Given the description of an element on the screen output the (x, y) to click on. 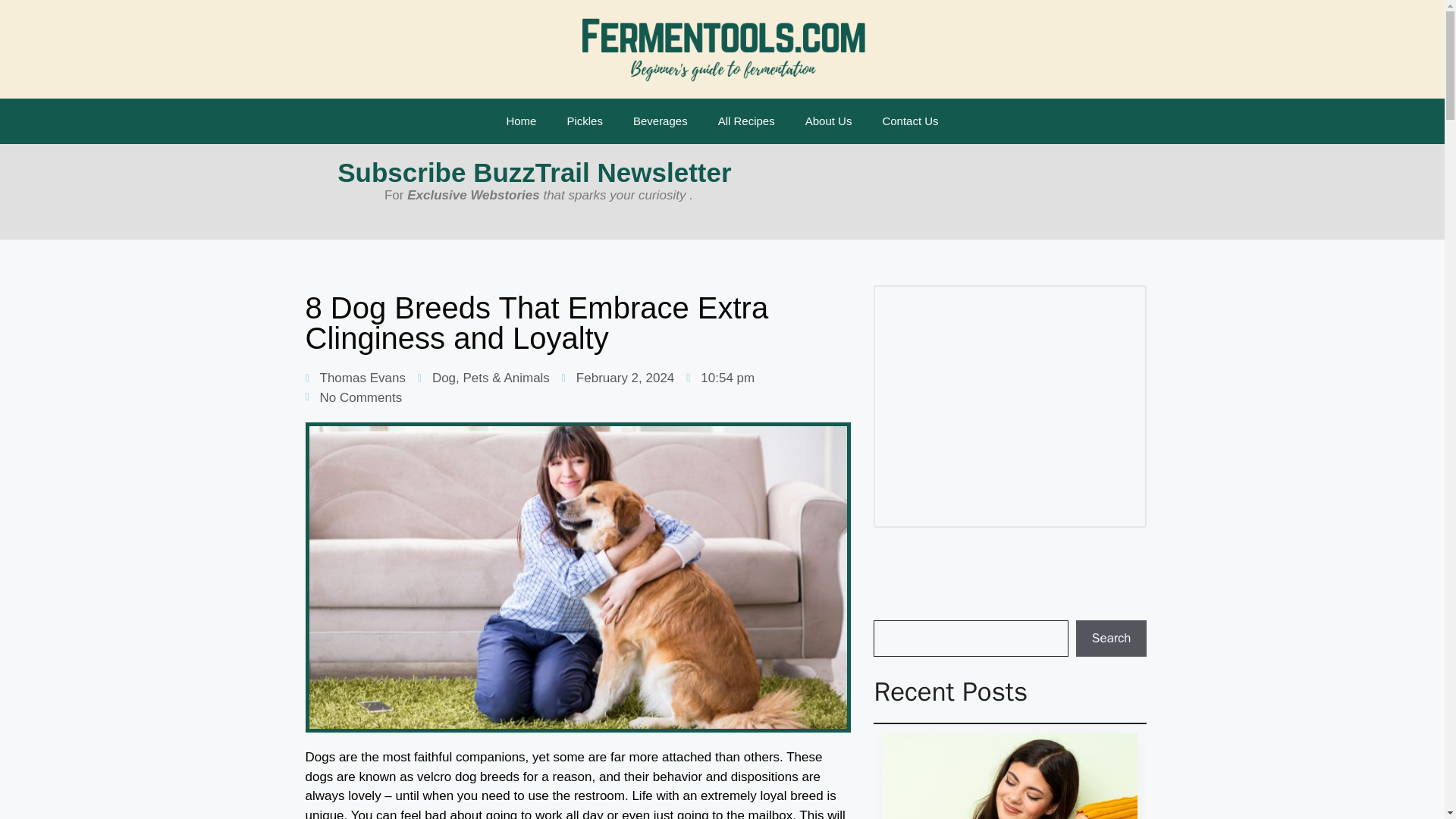
Contact Us (909, 121)
Home (520, 121)
No Comments (352, 397)
About Us (828, 121)
February 2, 2024 (618, 378)
Thomas Evans (354, 378)
All Recipes (746, 121)
Beverages (660, 121)
Pickles (584, 121)
Dog (443, 377)
